Given the description of an element on the screen output the (x, y) to click on. 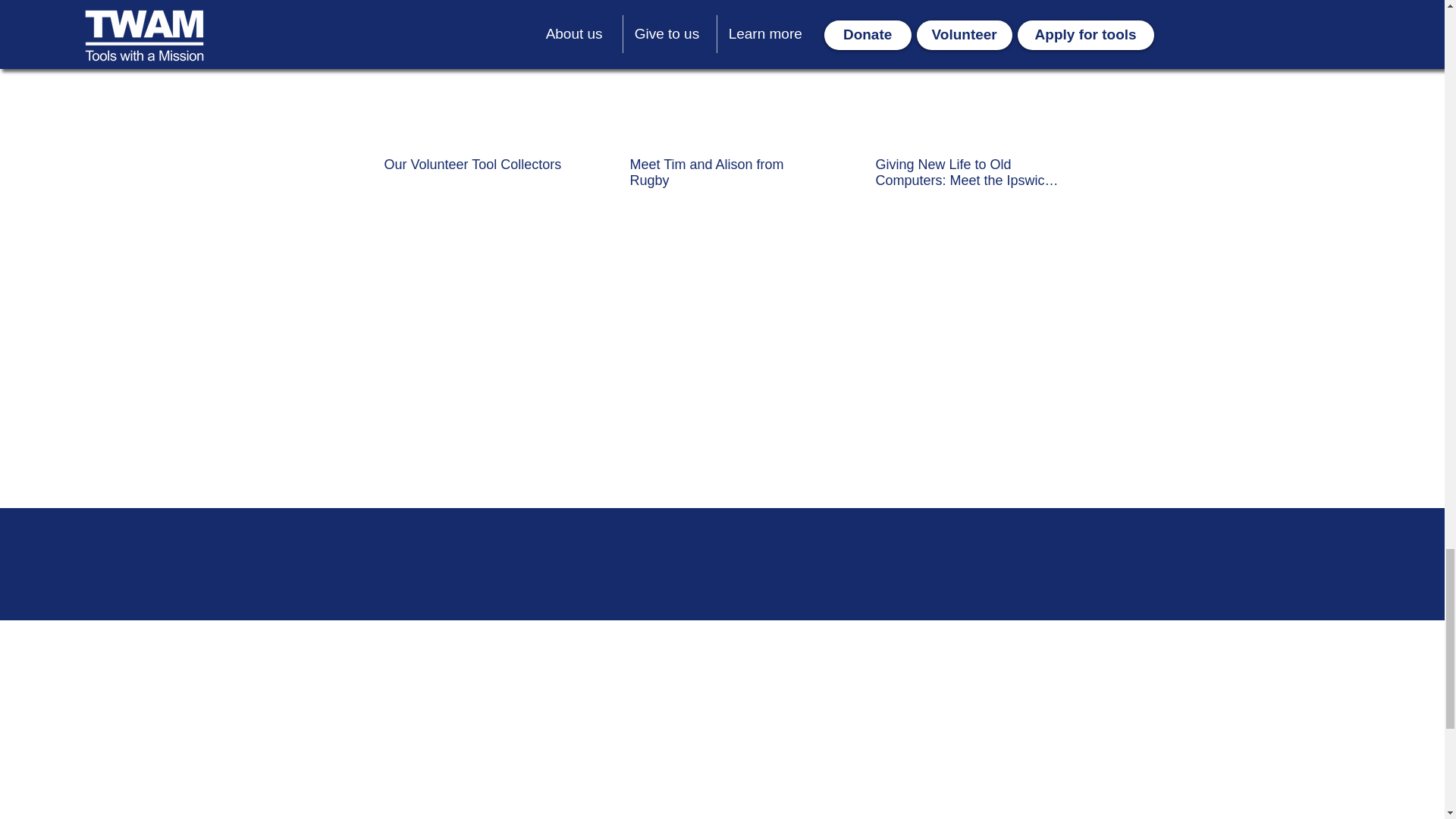
Our Volunteer Tool Collectors (475, 164)
Meet Tim and Alison from Rugby (720, 173)
